Given the description of an element on the screen output the (x, y) to click on. 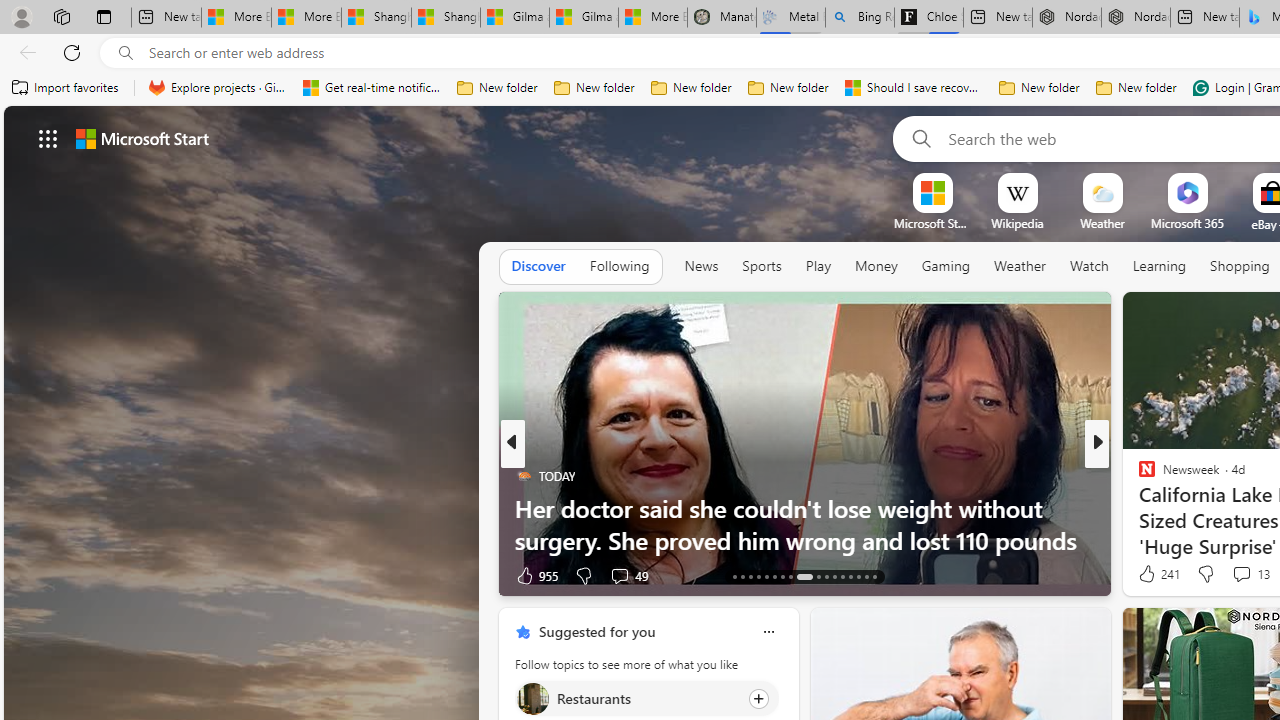
View comments 5 Comment (1229, 575)
Shanghai, China weather forecast | Microsoft Weather (445, 17)
AutomationID: waffle (47, 138)
Search icon (125, 53)
248 Like (1151, 574)
16 Like (1149, 574)
View comments 405 Comment (11, 575)
Weather (1020, 265)
AutomationID: tab-25 (842, 576)
Earth (1138, 507)
View comments 102 Comment (11, 575)
Sports (761, 267)
